Given the description of an element on the screen output the (x, y) to click on. 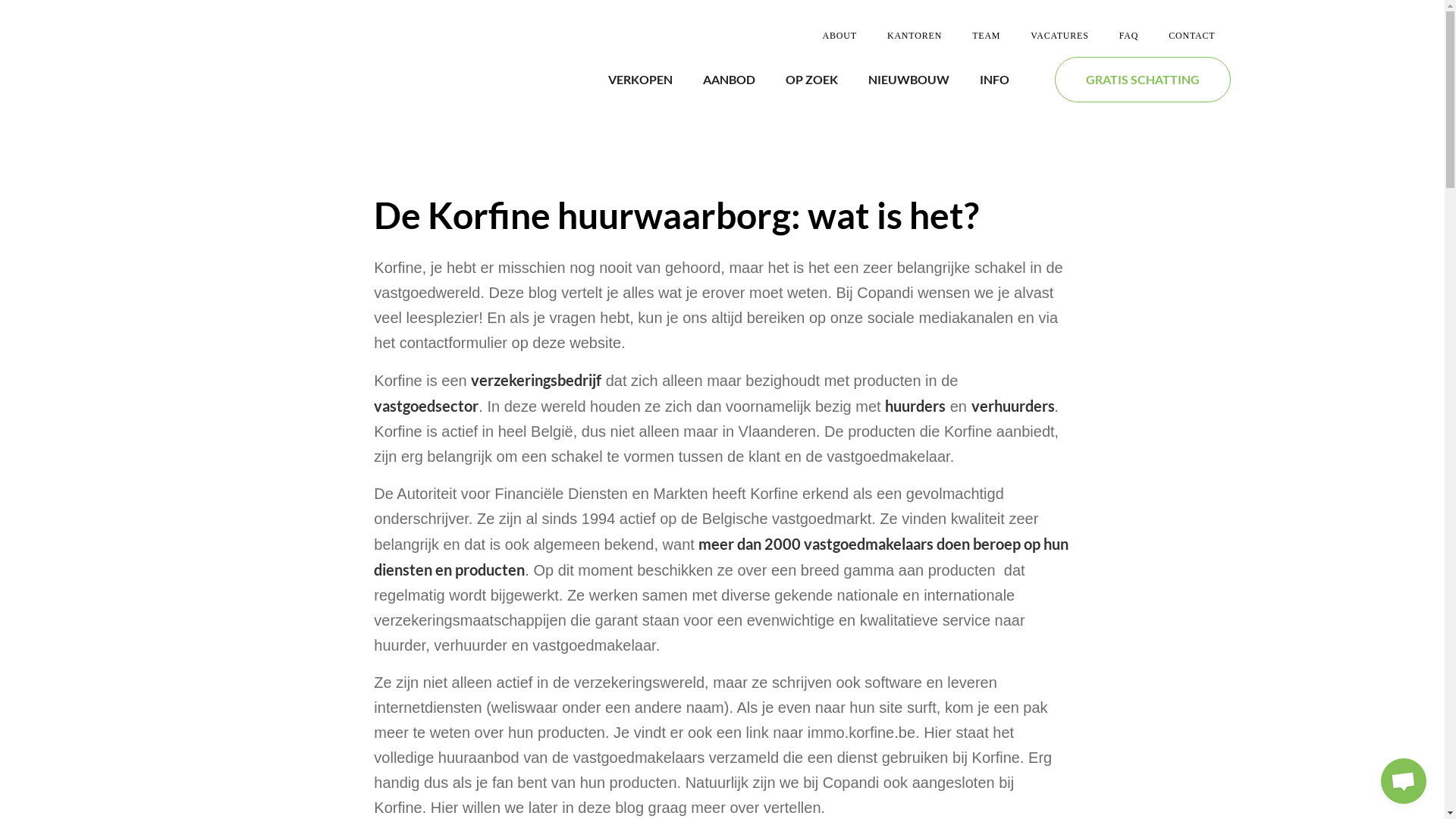
VERKOPEN Element type: text (640, 79)
NIEUWBOUW Element type: text (907, 79)
OP ZOEK Element type: text (811, 79)
GRATIS SCHATTING Element type: text (1142, 79)
KANTOREN Element type: text (914, 35)
FAQ Element type: text (1129, 35)
CONTACT Element type: text (1191, 35)
INFO Element type: text (994, 79)
TEAM Element type: text (986, 35)
ABOUT Element type: text (839, 35)
AANBOD Element type: text (728, 79)
VACATURES Element type: text (1059, 35)
